Given the description of an element on the screen output the (x, y) to click on. 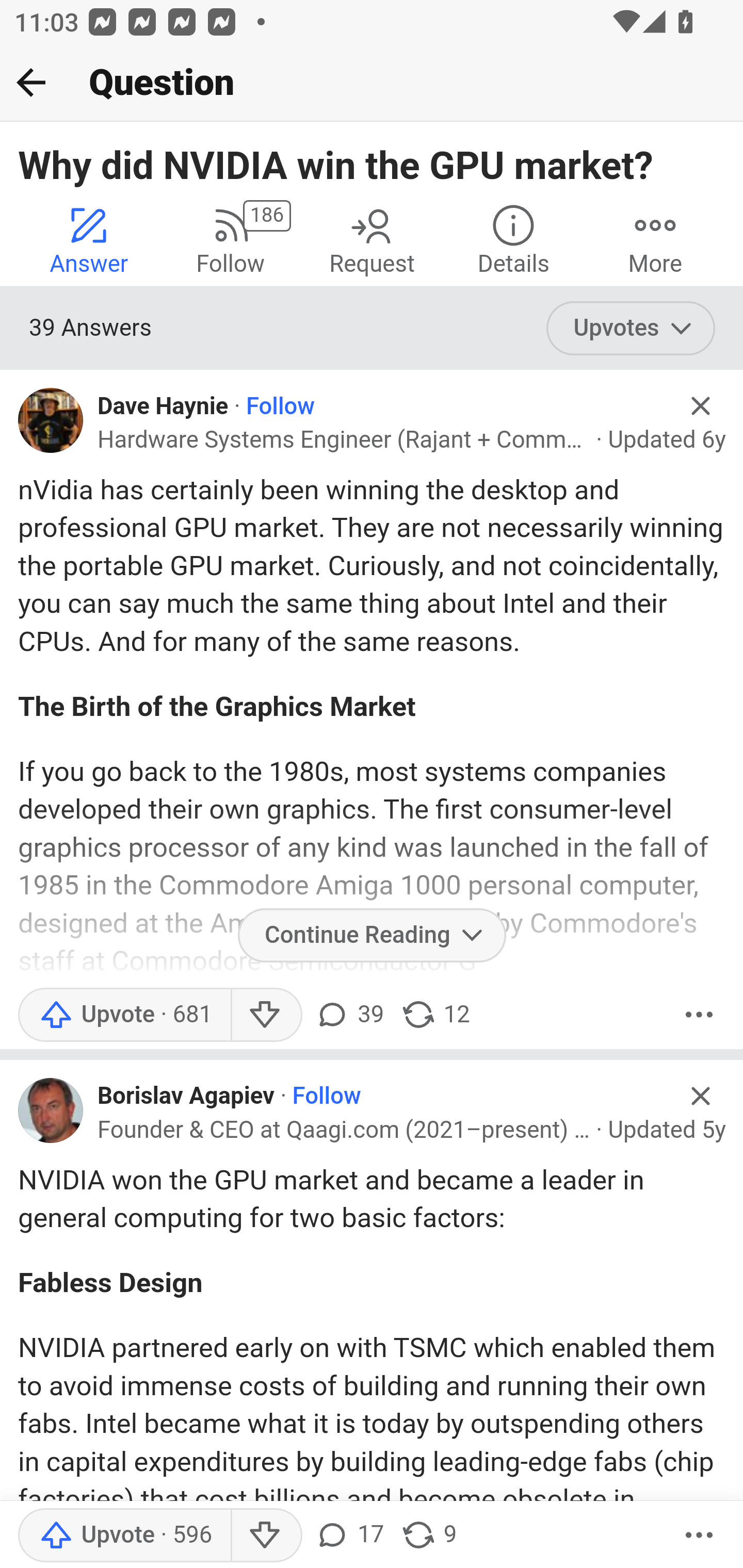
Back Question (371, 82)
Back (30, 82)
Answer (88, 239)
186 Follow (230, 239)
Request (371, 239)
Details (513, 239)
More (655, 239)
Upvotes (630, 327)
Hide (700, 405)
Profile photo for Dave Haynie (50, 420)
Dave Haynie (162, 406)
Follow (280, 406)
Updated 6y Updated  6 y (667, 439)
Continue Reading (371, 934)
Upvote (124, 1014)
Downvote (266, 1014)
39 comments (349, 1014)
12 shares (434, 1014)
More (699, 1014)
Hide (700, 1094)
Profile photo for Borislav Agapiev (50, 1110)
Borislav Agapiev (186, 1096)
Follow (326, 1096)
Updated 5y Updated  5 y (667, 1129)
Upvote (124, 1535)
Downvote (266, 1535)
17 comments (349, 1535)
9 shares (428, 1535)
More (699, 1535)
